Given the description of an element on the screen output the (x, y) to click on. 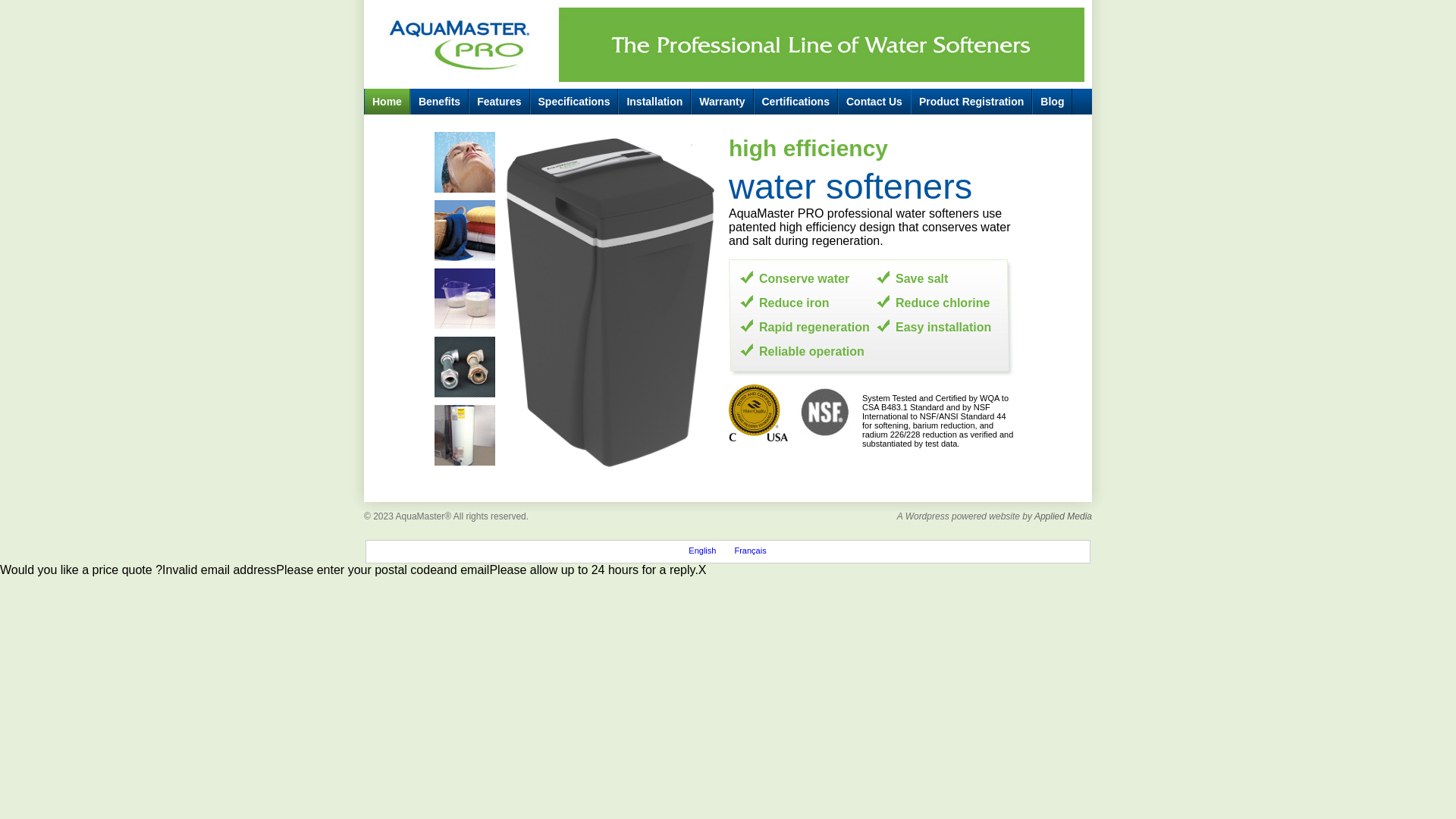
Blog Element type: text (1052, 101)
Benefits Element type: text (439, 101)
English Element type: text (701, 550)
See the brightness Element type: hover (468, 234)
NSF/ANSI standard 44 Element type: hover (828, 412)
Save appliances Element type: hover (468, 370)
Aquamaster Pro - Return to homepage Element type: hover (460, 40)
Features Element type: text (498, 101)
Save energy Element type: hover (468, 438)
Home Element type: text (387, 101)
Contact Us Element type: text (873, 101)
Product Registration Element type: text (971, 101)
Aquamaster Pro Element type: hover (554, 300)
Applied Media Element type: text (1063, 516)
Feel the softness Element type: hover (468, 165)
Specifications Element type: text (573, 101)
Certifications Element type: text (795, 101)
Installation Element type: text (654, 101)
Save money Element type: hover (468, 302)
Warranty Element type: text (721, 101)
WQA Gold Seal Element type: hover (761, 412)
